Given the description of an element on the screen output the (x, y) to click on. 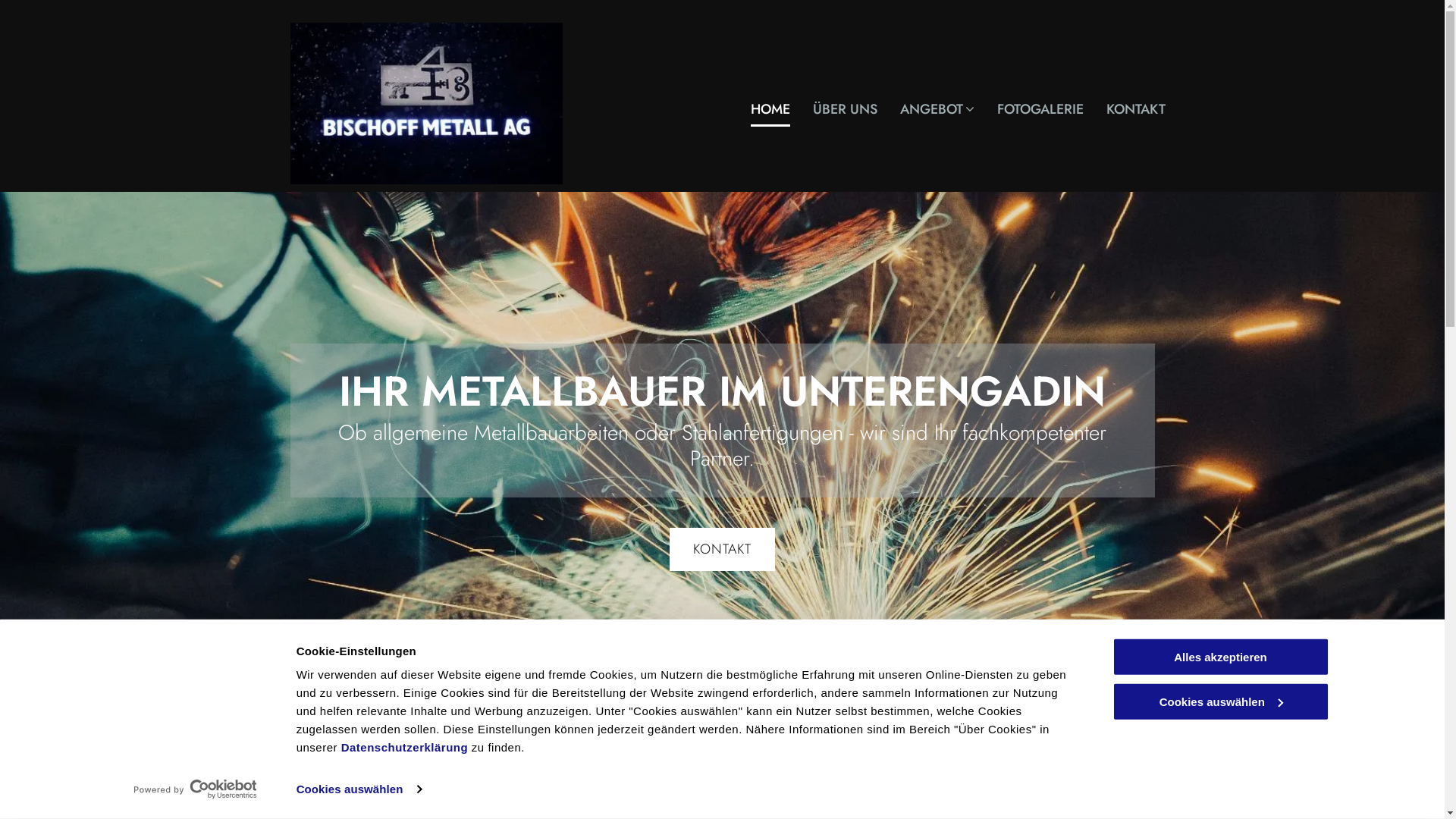
Alles akzeptieren Element type: text (1219, 656)
KONTAKT Element type: text (722, 549)
KONTAKT Element type: text (1124, 110)
ANGEBOT Element type: text (925, 110)
FOTOGALERIE Element type: text (1028, 110)
HOME Element type: text (759, 110)
